Given the description of an element on the screen output the (x, y) to click on. 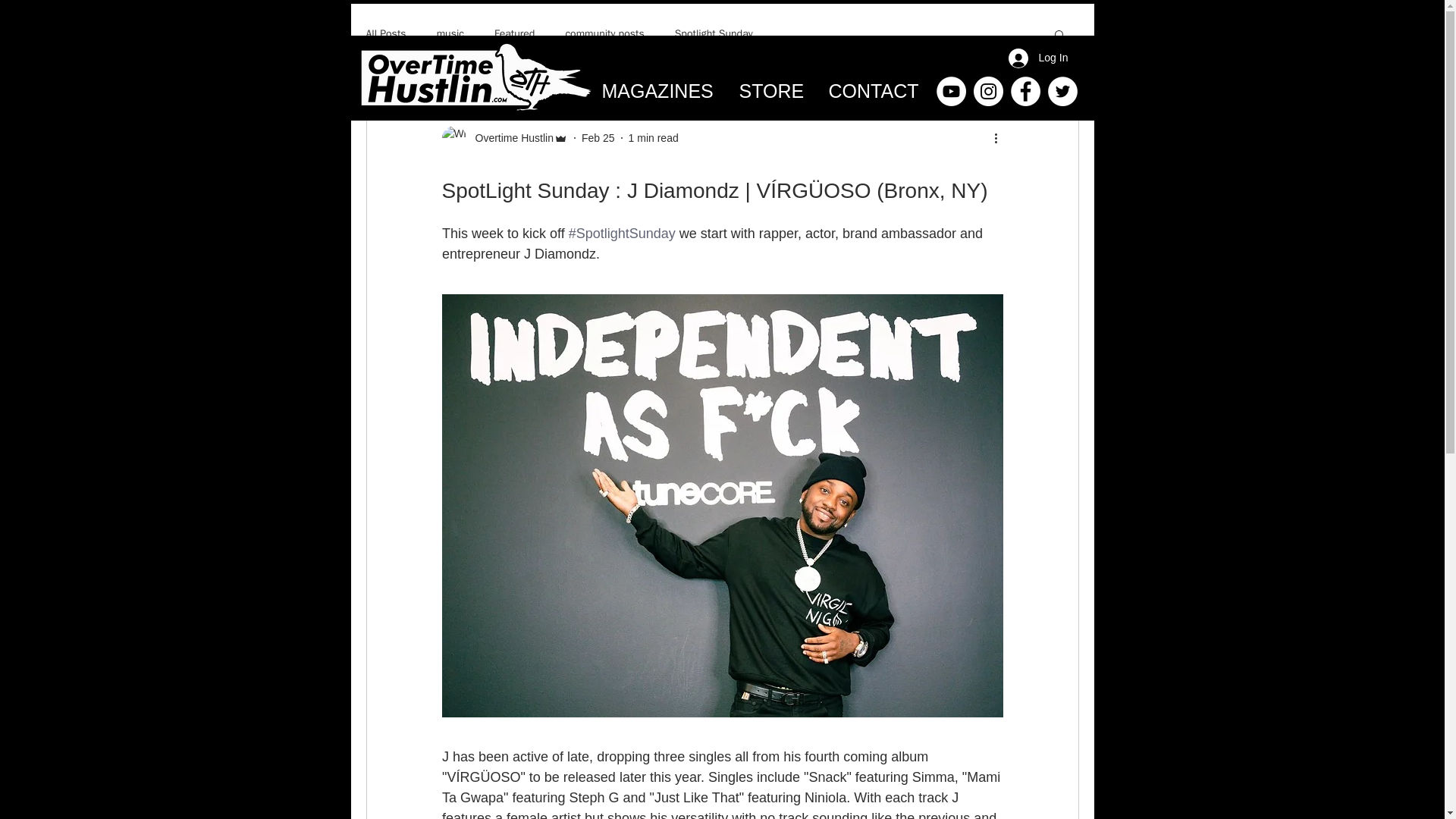
Overtime Hustlin (504, 137)
MAGAZINES (657, 91)
community posts (603, 33)
STORE (772, 91)
CONTACT (873, 91)
Feb 25 (597, 137)
music (450, 33)
Log In (1031, 58)
Spotlight Sunday (713, 33)
Overtime Hustlin (509, 138)
1 min read (653, 137)
Featured (514, 33)
All Posts (385, 33)
